Given the description of an element on the screen output the (x, y) to click on. 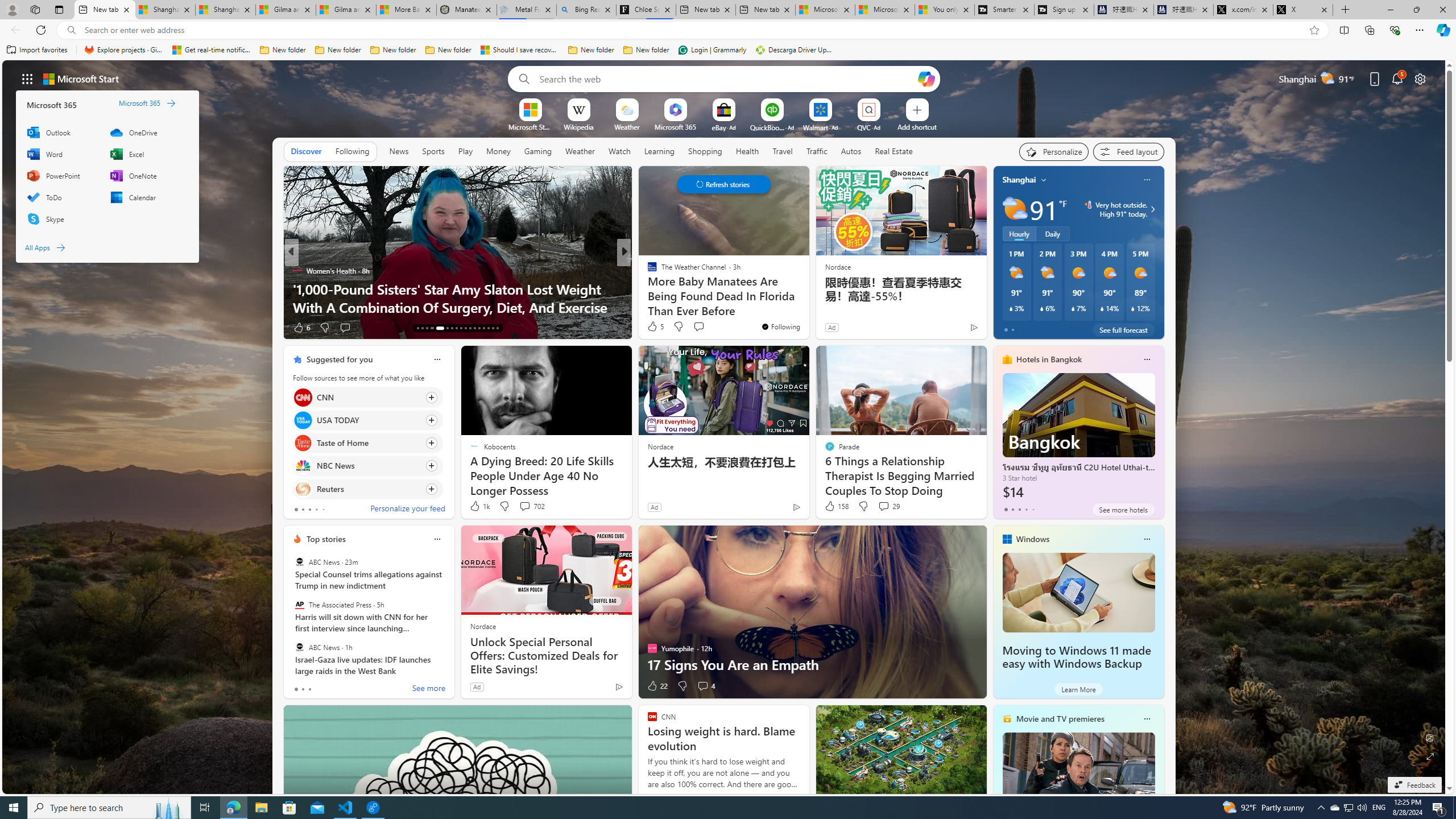
6 Like (301, 327)
Daily (1052, 233)
Chloe Sorvino (646, 9)
Class: weather-arrow-glyph (1152, 208)
AutomationID: tab-23 (470, 328)
tab-3 (1025, 509)
16 Like (652, 327)
AutomationID: tab-13 (417, 328)
75 Like (652, 327)
Climate Crisis 247 (647, 270)
Shopping (705, 151)
158 Like (835, 505)
